Given the description of an element on the screen output the (x, y) to click on. 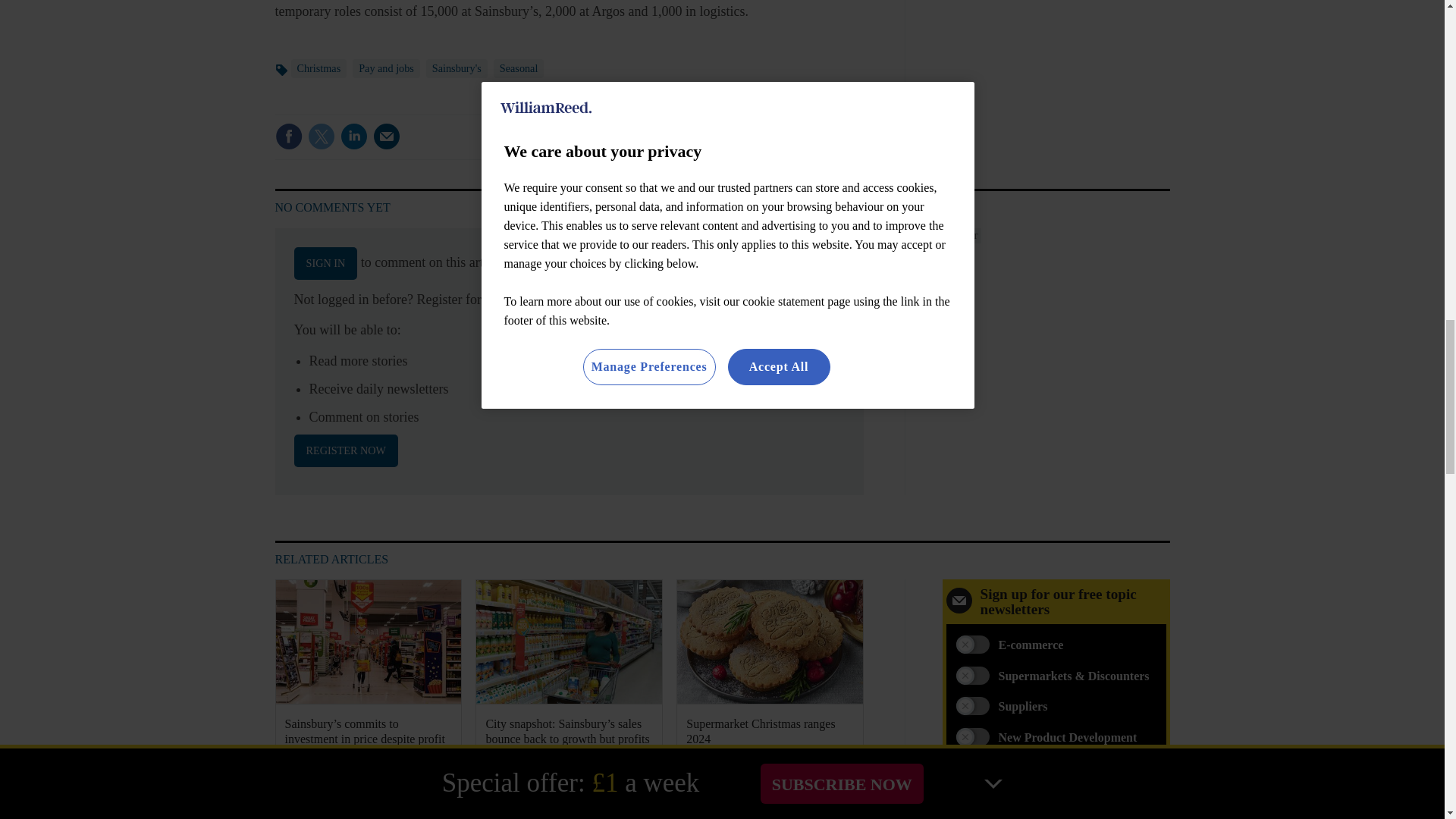
Email this article (386, 135)
Share this on Twitter (320, 135)
Share this on Facebook (288, 135)
Share this on Linked in (352, 135)
No comments (812, 145)
